Given the description of an element on the screen output the (x, y) to click on. 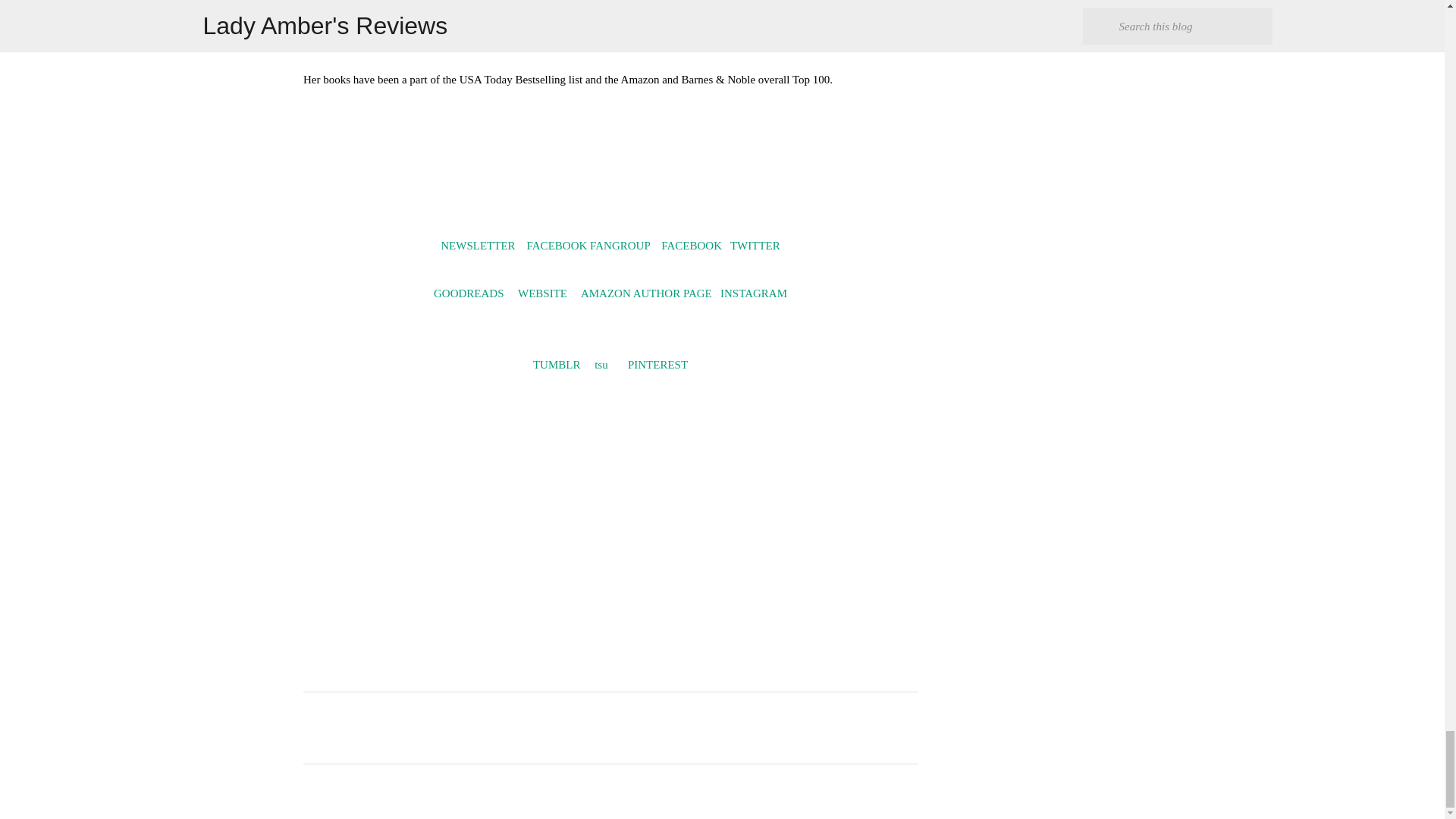
TUMBLR (556, 364)
WEBSITE (542, 293)
AMAZON AUTHOR PAGE (645, 293)
GOODREADS (468, 293)
FACEBOOK (691, 245)
FACEBOOK FANGROUP (588, 245)
tsu (601, 364)
NEWSLETTER (478, 245)
PINTEREST (657, 364)
INSTAGRAM (753, 293)
